Given the description of an element on the screen output the (x, y) to click on. 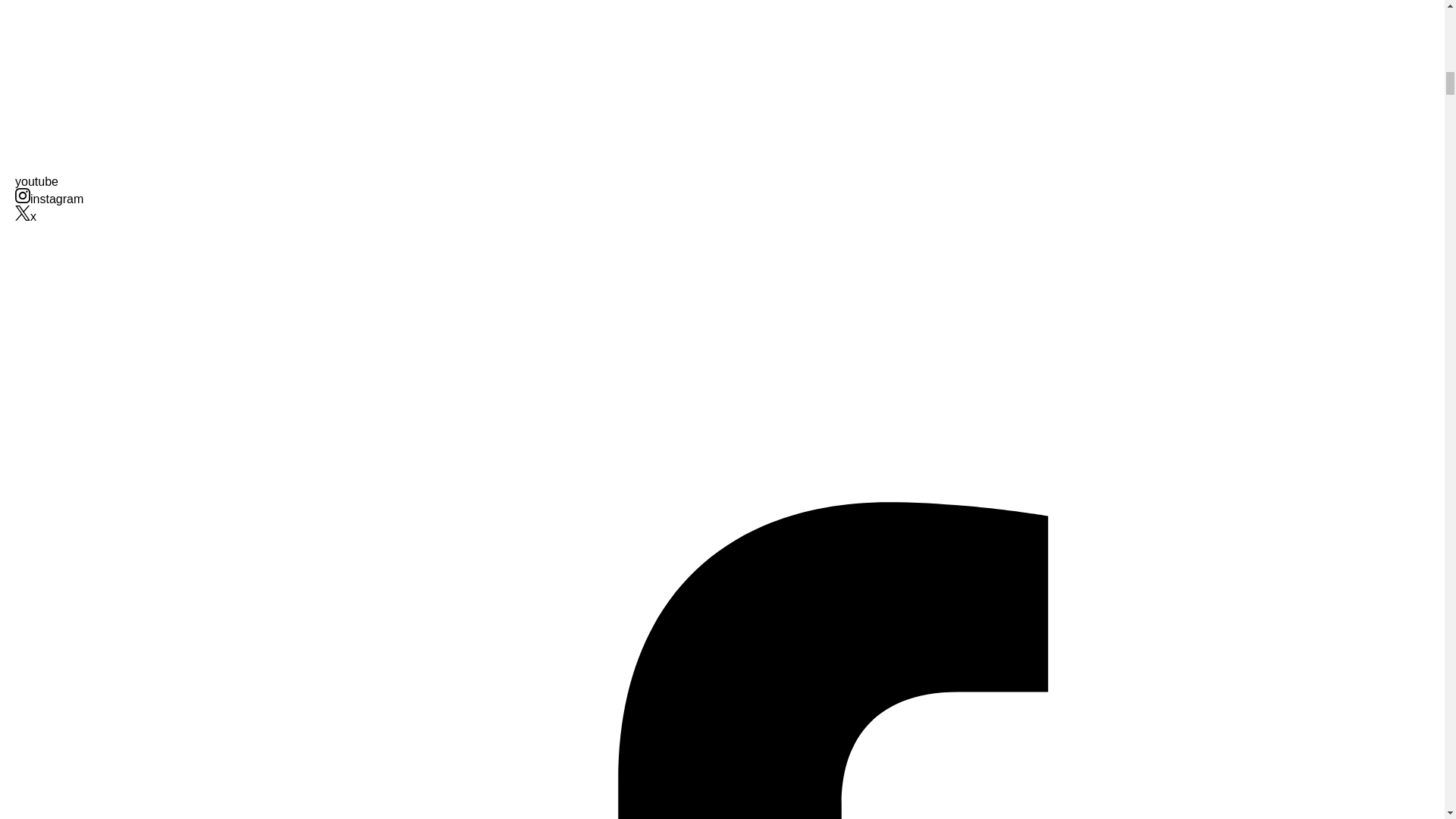
Twitter Navigation Icon (22, 212)
Instagram Navigation Icon (22, 195)
Instagram Navigation Iconinstagram (48, 198)
Twitter Navigation Iconx (25, 215)
